Given the description of an element on the screen output the (x, y) to click on. 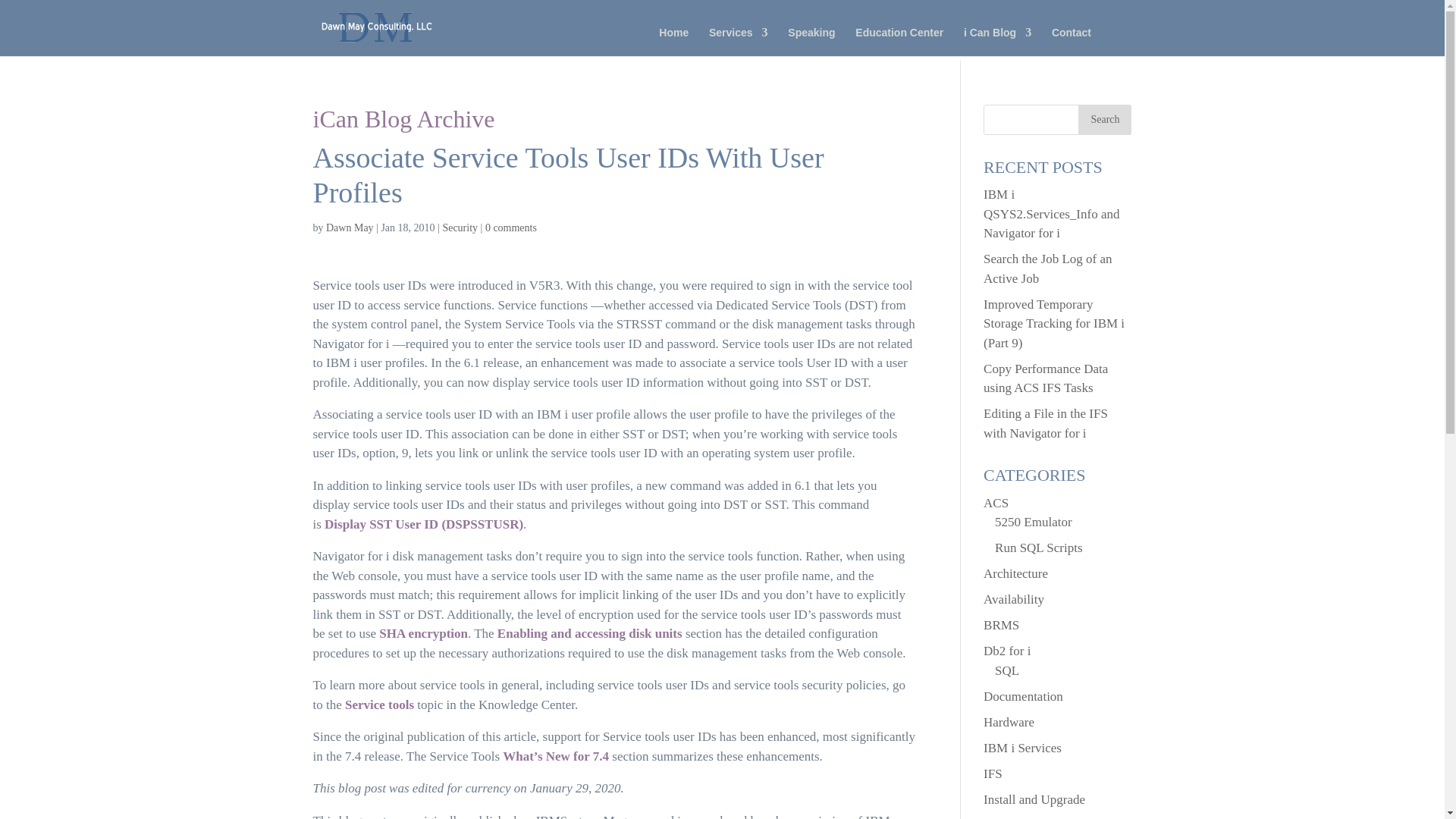
Architecture (1016, 573)
Home (673, 41)
Education Center (899, 41)
Service tools (379, 704)
Enabling and accessing disk units (589, 633)
i Can Blog (996, 41)
Security (459, 227)
Editing a File in the IFS with Navigator for i (1046, 423)
SHA encryption (422, 633)
Copy Performance Data using ACS IFS Tasks (1046, 378)
